Given the description of an element on the screen output the (x, y) to click on. 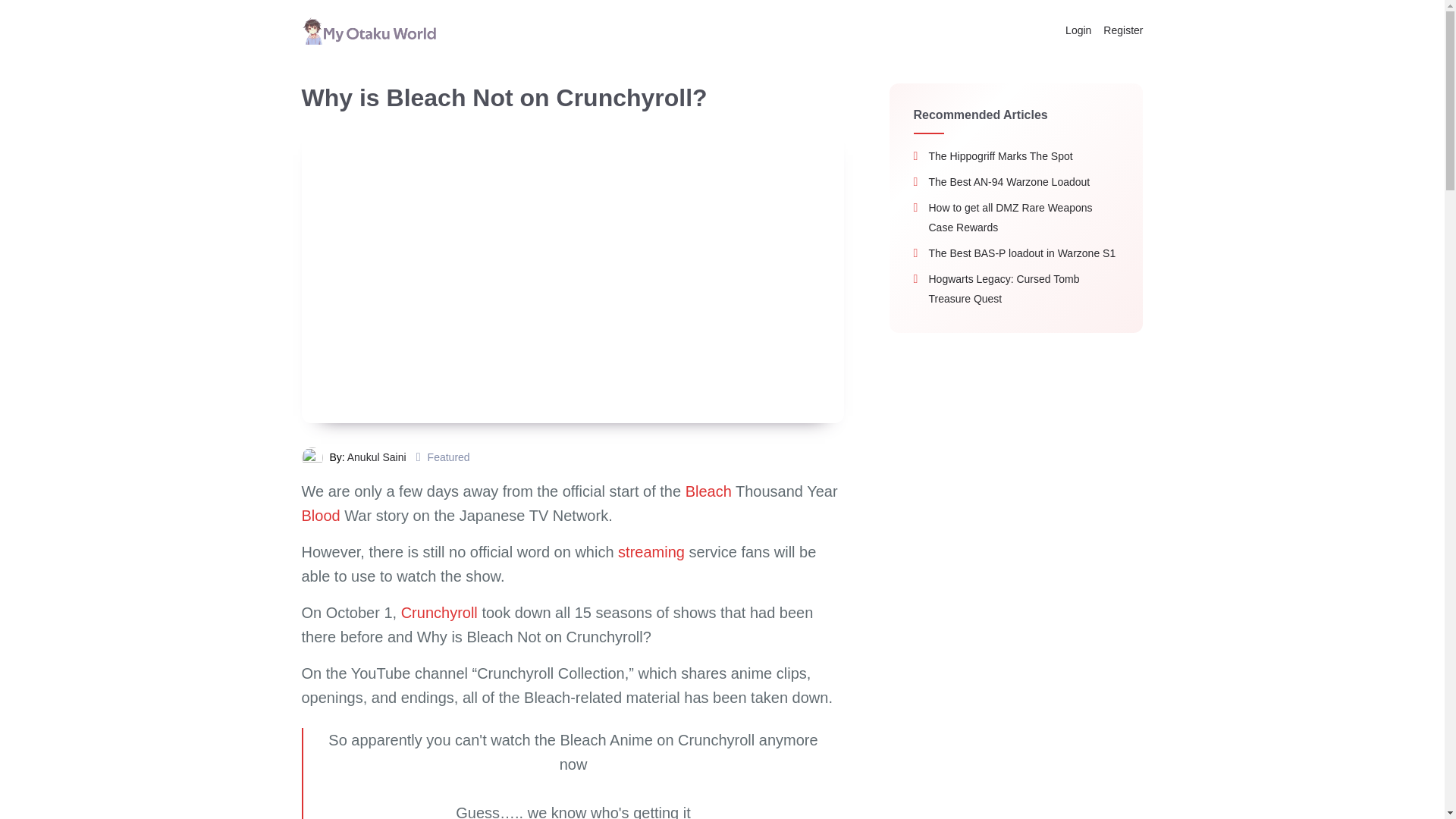
My Otaku World (369, 30)
Login (1078, 29)
Register (1119, 29)
